Given the description of an element on the screen output the (x, y) to click on. 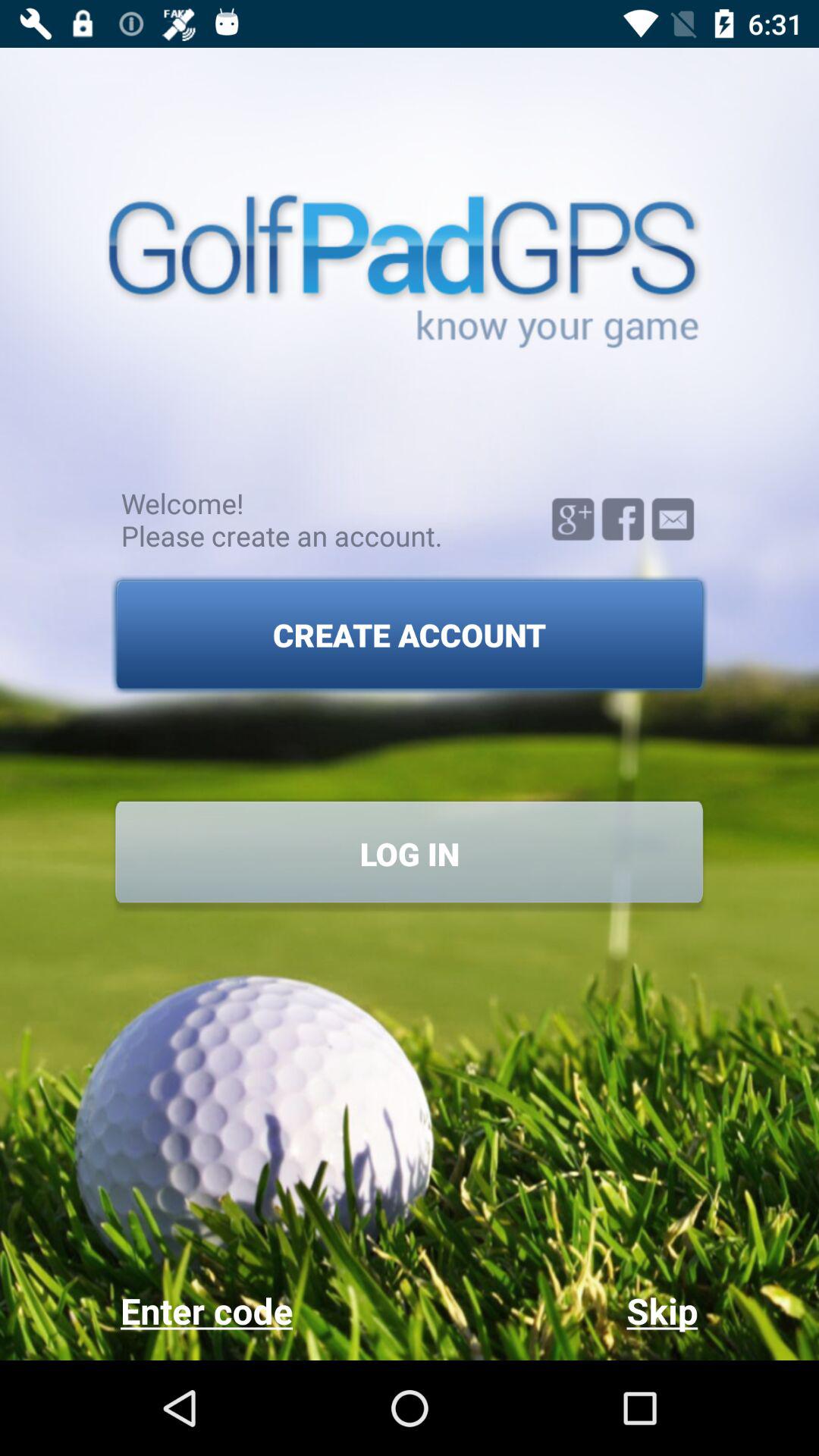
launch the item to the right of the enter code icon (552, 1310)
